Given the description of an element on the screen output the (x, y) to click on. 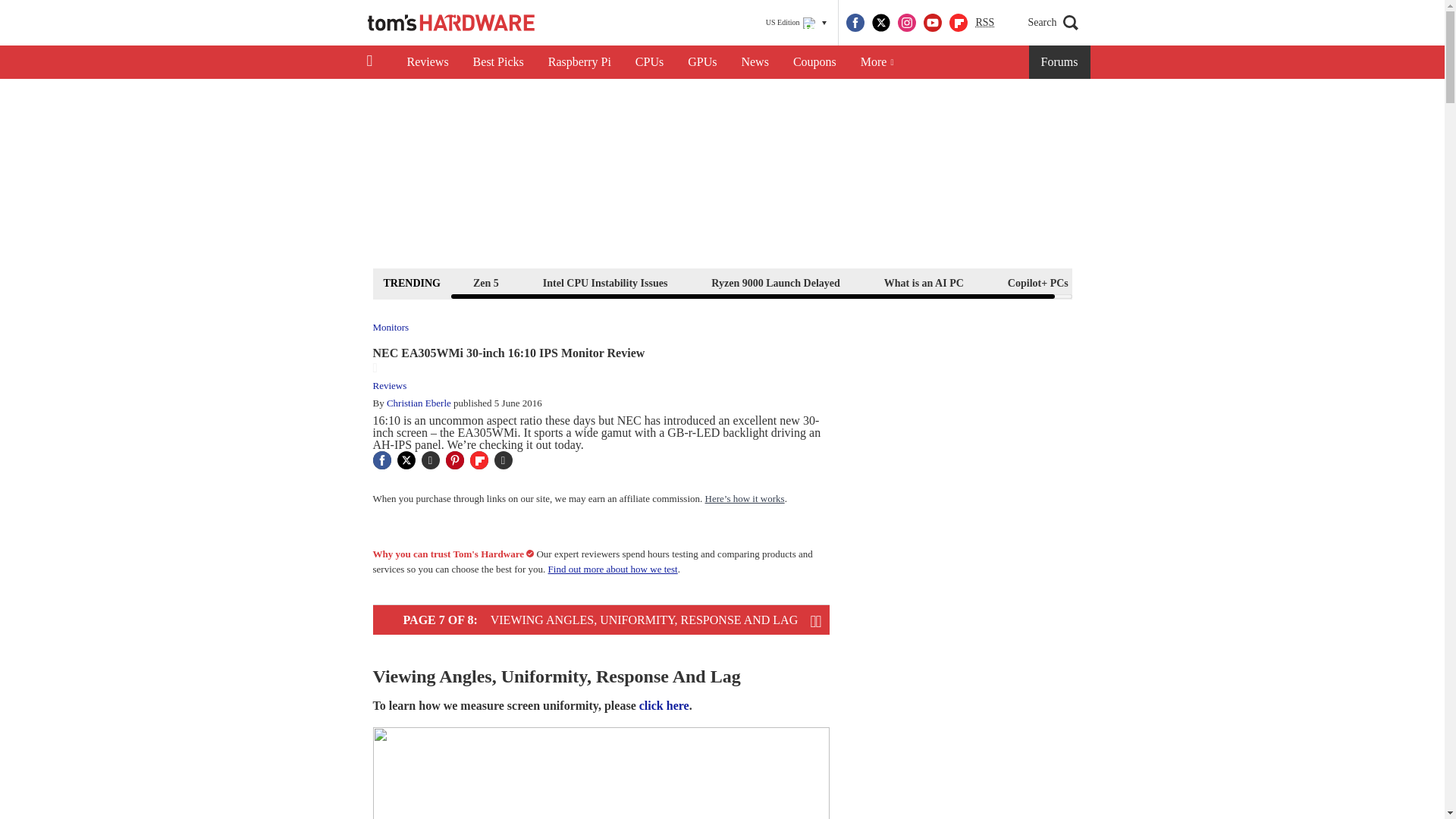
US Edition (796, 22)
Best Picks (498, 61)
News (754, 61)
Zen 5 (485, 282)
Coupons (814, 61)
GPUs (702, 61)
Forums (1059, 61)
CPUs (649, 61)
Reviews (427, 61)
RSS (984, 22)
Raspberry Pi (579, 61)
Really Simple Syndication (984, 21)
